Given the description of an element on the screen output the (x, y) to click on. 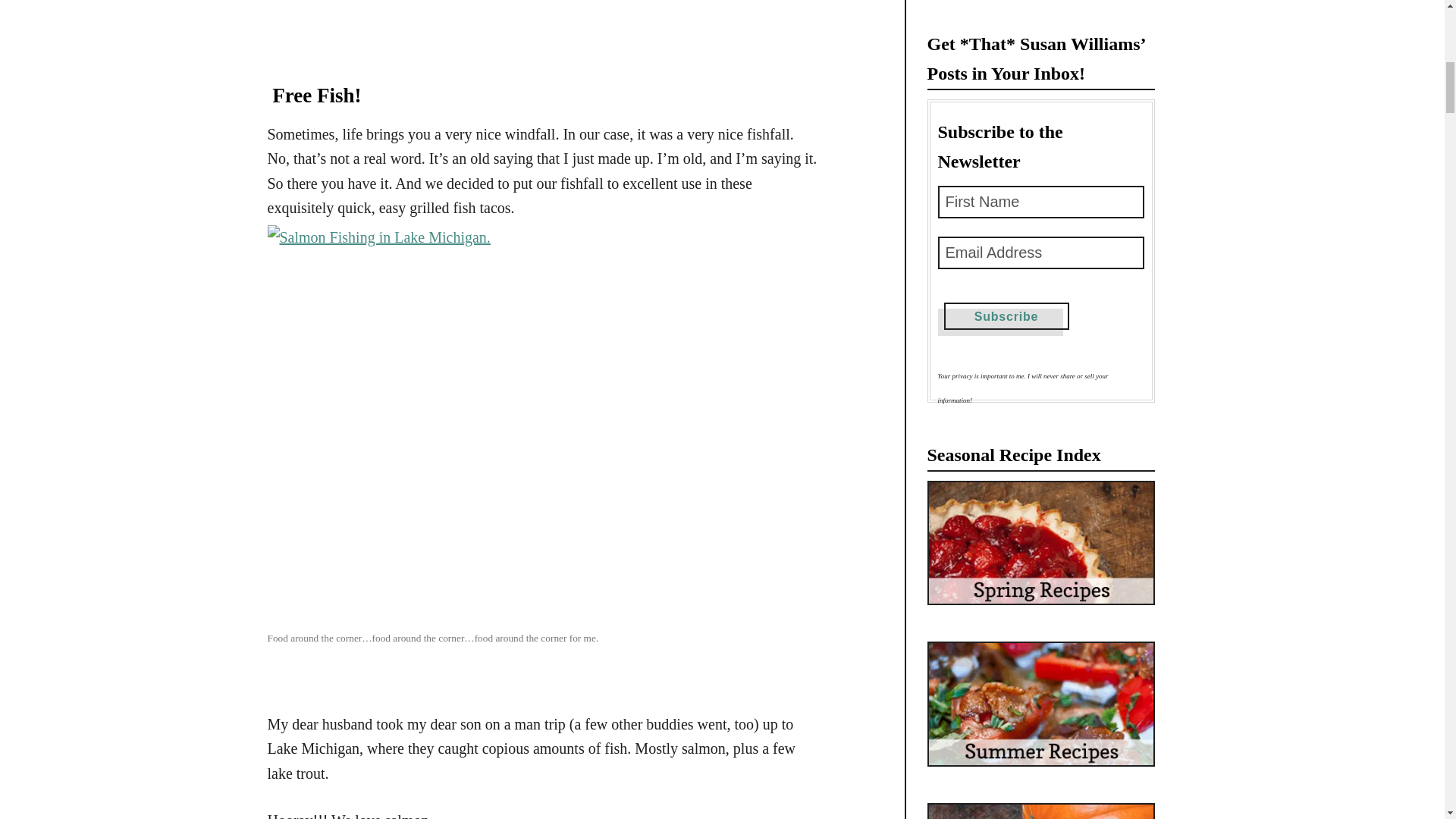
Subscribe (1005, 316)
Email Address (1039, 252)
First Name (1039, 201)
